Given the description of an element on the screen output the (x, y) to click on. 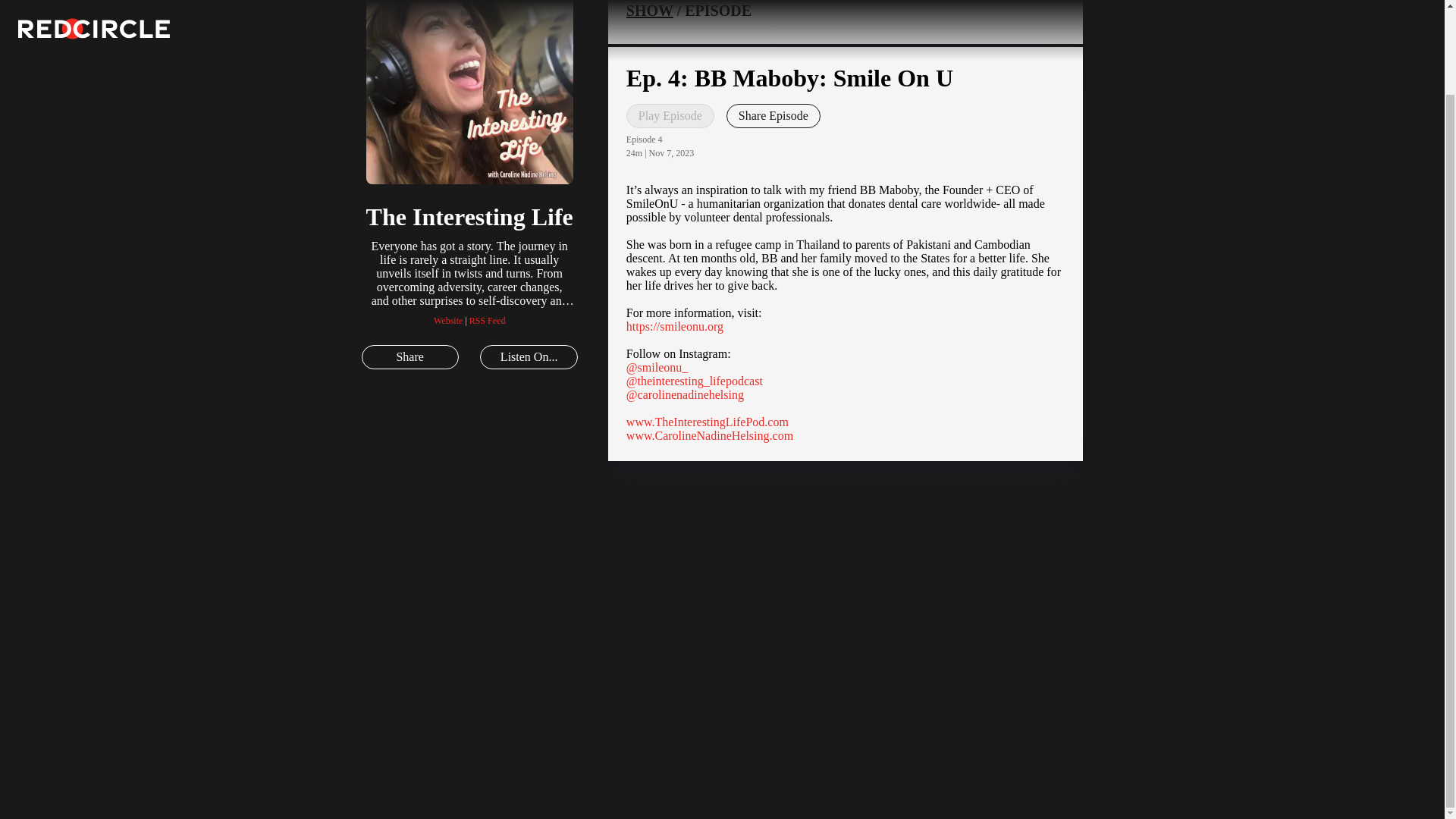
Website (448, 320)
Share (409, 356)
Play Episode (670, 115)
www.TheInterestingLifePod.com (707, 421)
Share Episode (773, 115)
SHOW (649, 10)
Listen On... (528, 356)
www.CarolineNadineHelsing.com (709, 435)
RSS Feed (486, 320)
